Given the description of an element on the screen output the (x, y) to click on. 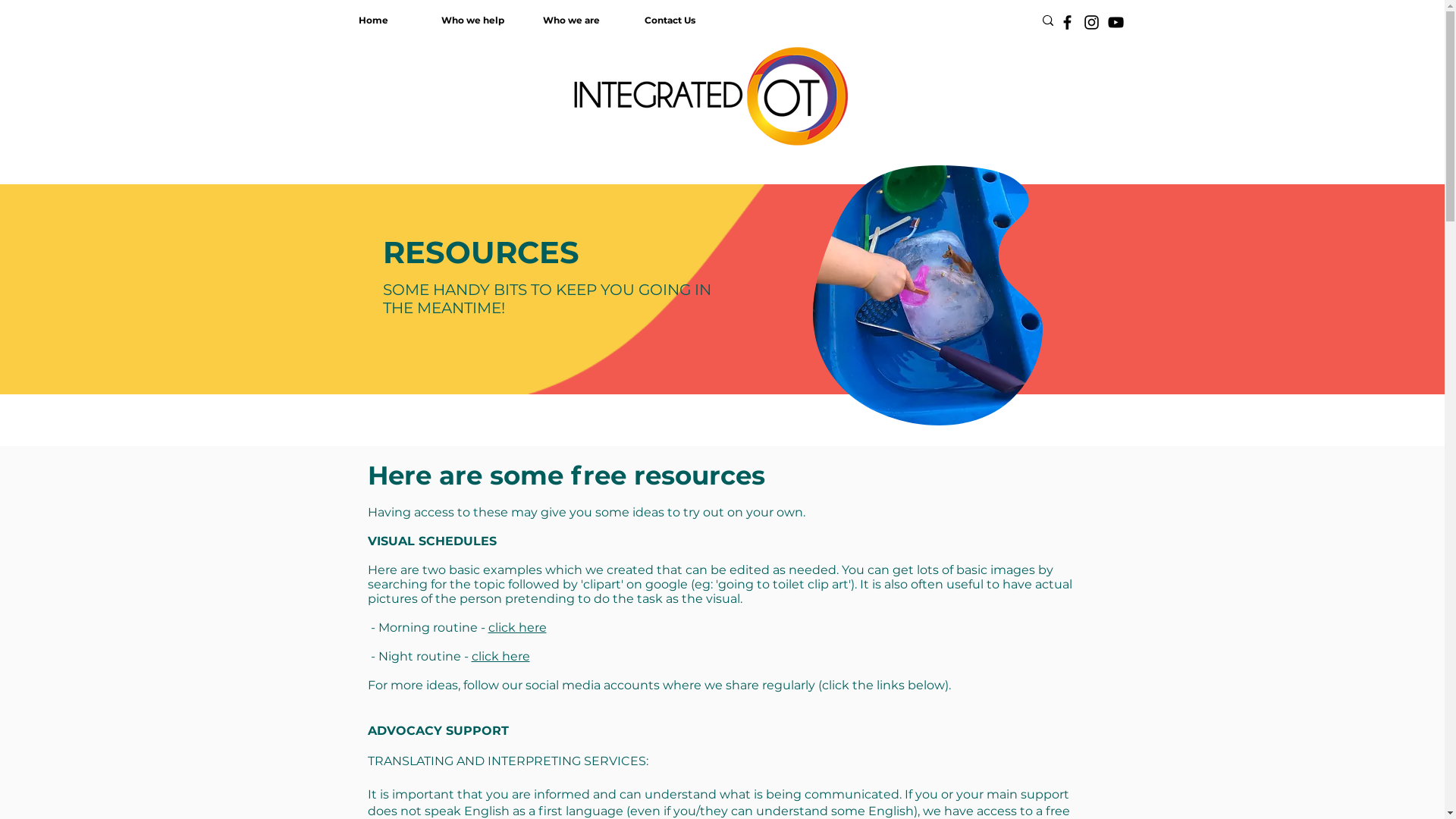
click here Element type: text (500, 656)
Contact Us Element type: text (669, 20)
IOT logo_plain_black_bold.png Element type: hover (711, 93)
click here Element type: text (517, 627)
Home Element type: text (372, 20)
